Given the description of an element on the screen output the (x, y) to click on. 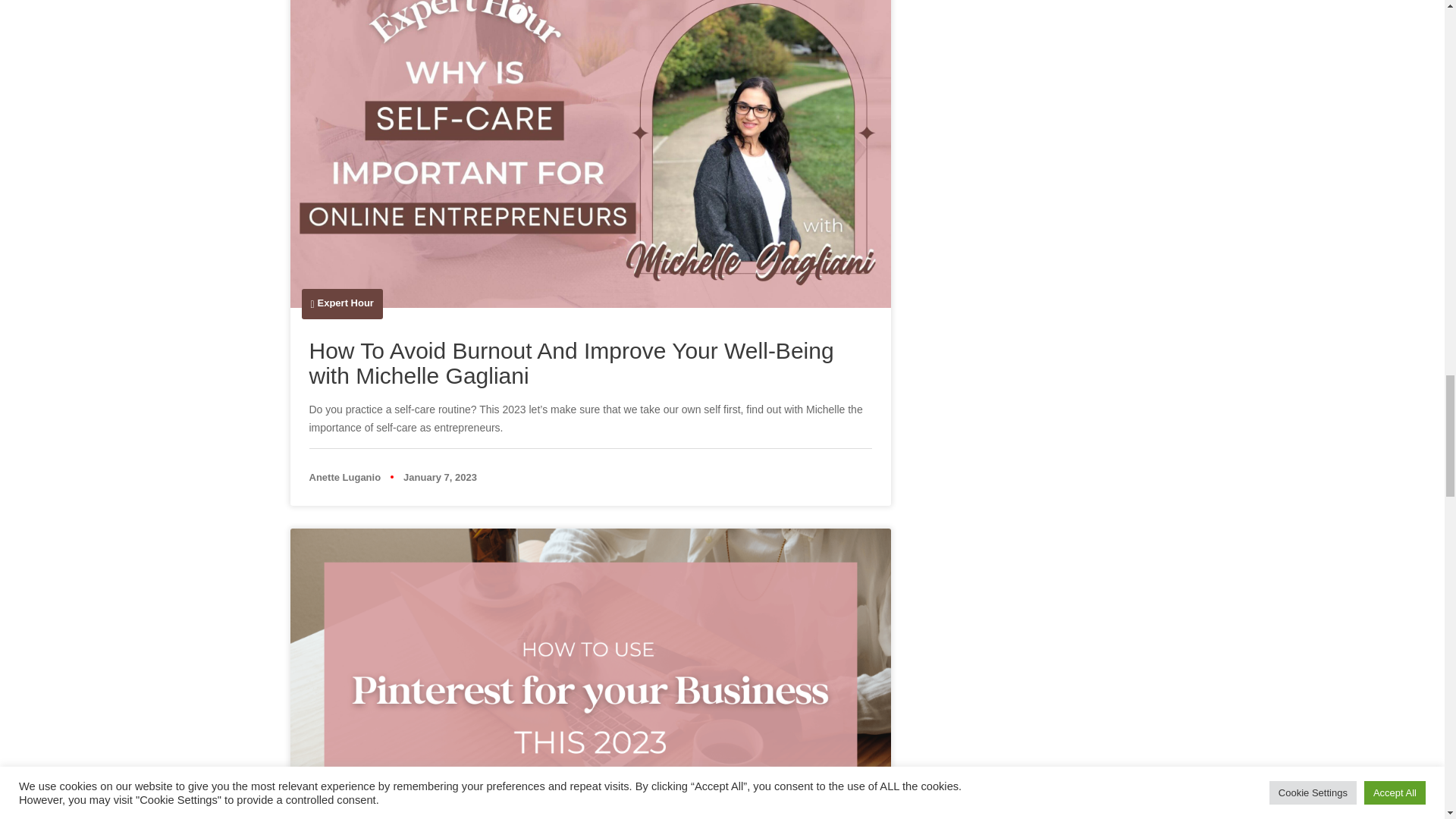
Expert Hour (345, 302)
Anette Luganio (344, 477)
January 7, 2023 (440, 477)
